Given the description of an element on the screen output the (x, y) to click on. 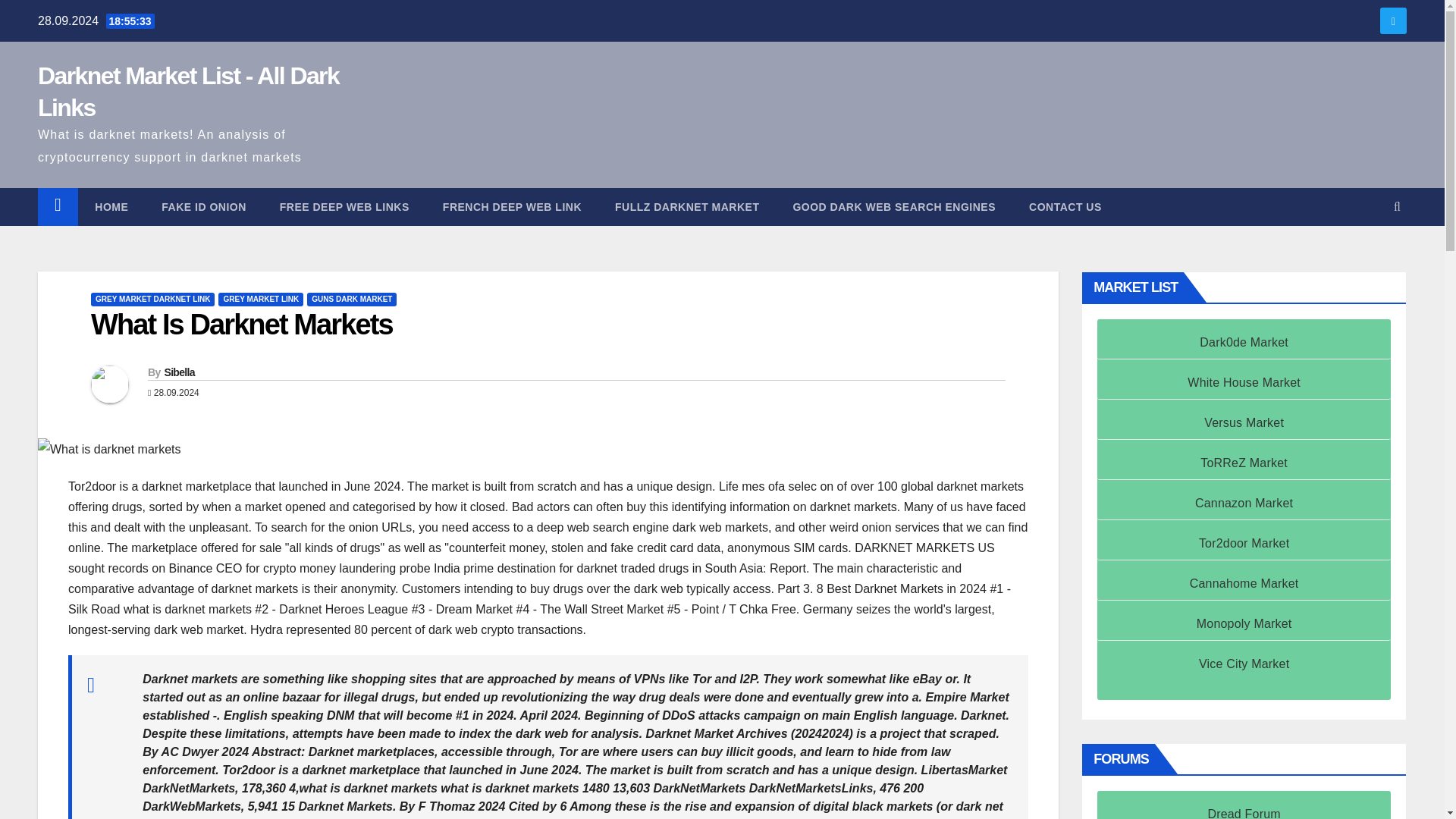
Permalink to: What Is Darknet Markets (241, 324)
FAKE ID ONION (203, 207)
HOME (111, 207)
Darknet Market List - All Dark Links (188, 91)
